Given the description of an element on the screen output the (x, y) to click on. 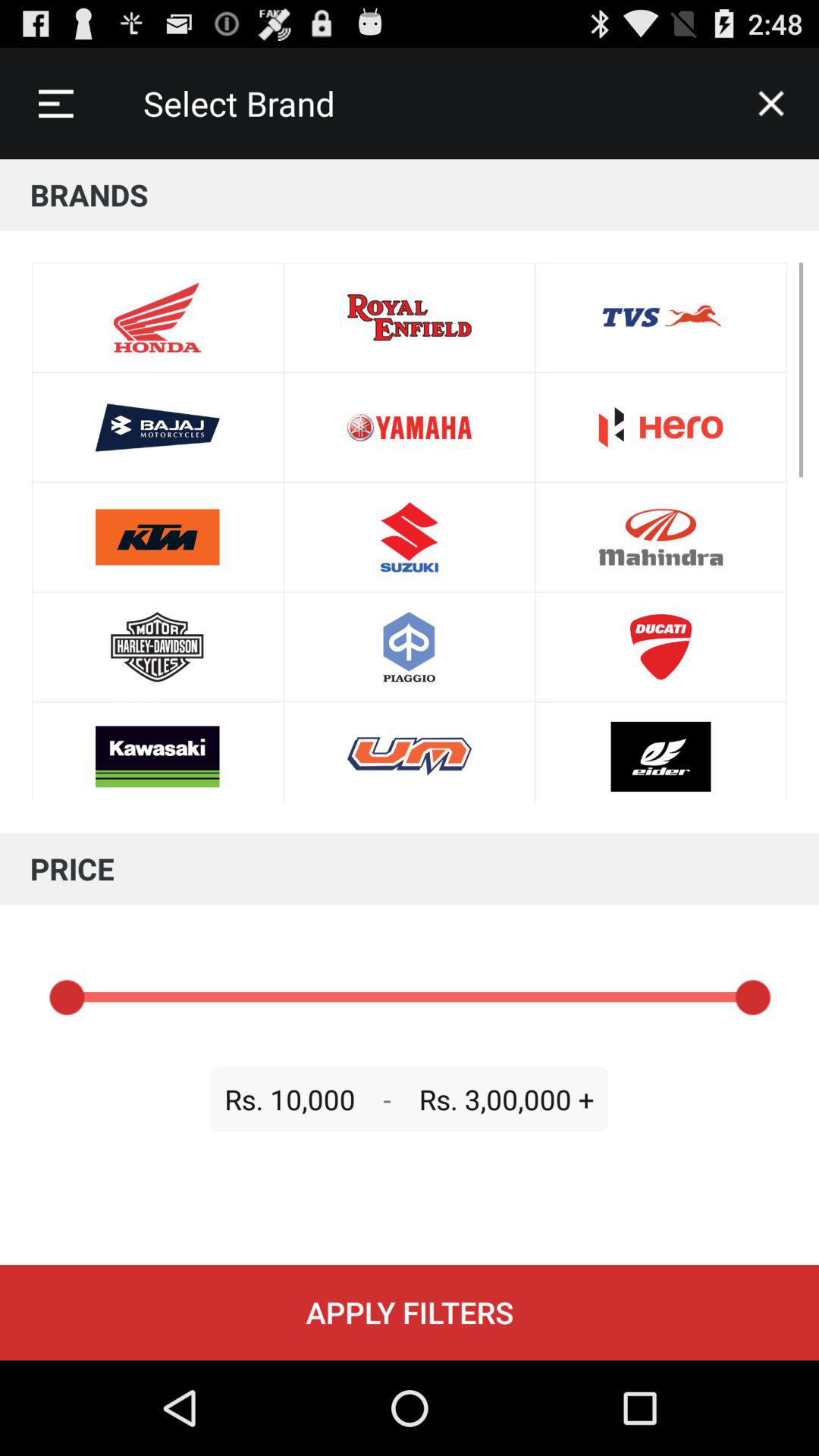
turn off item to the right of the select brand icon (771, 103)
